Given the description of an element on the screen output the (x, y) to click on. 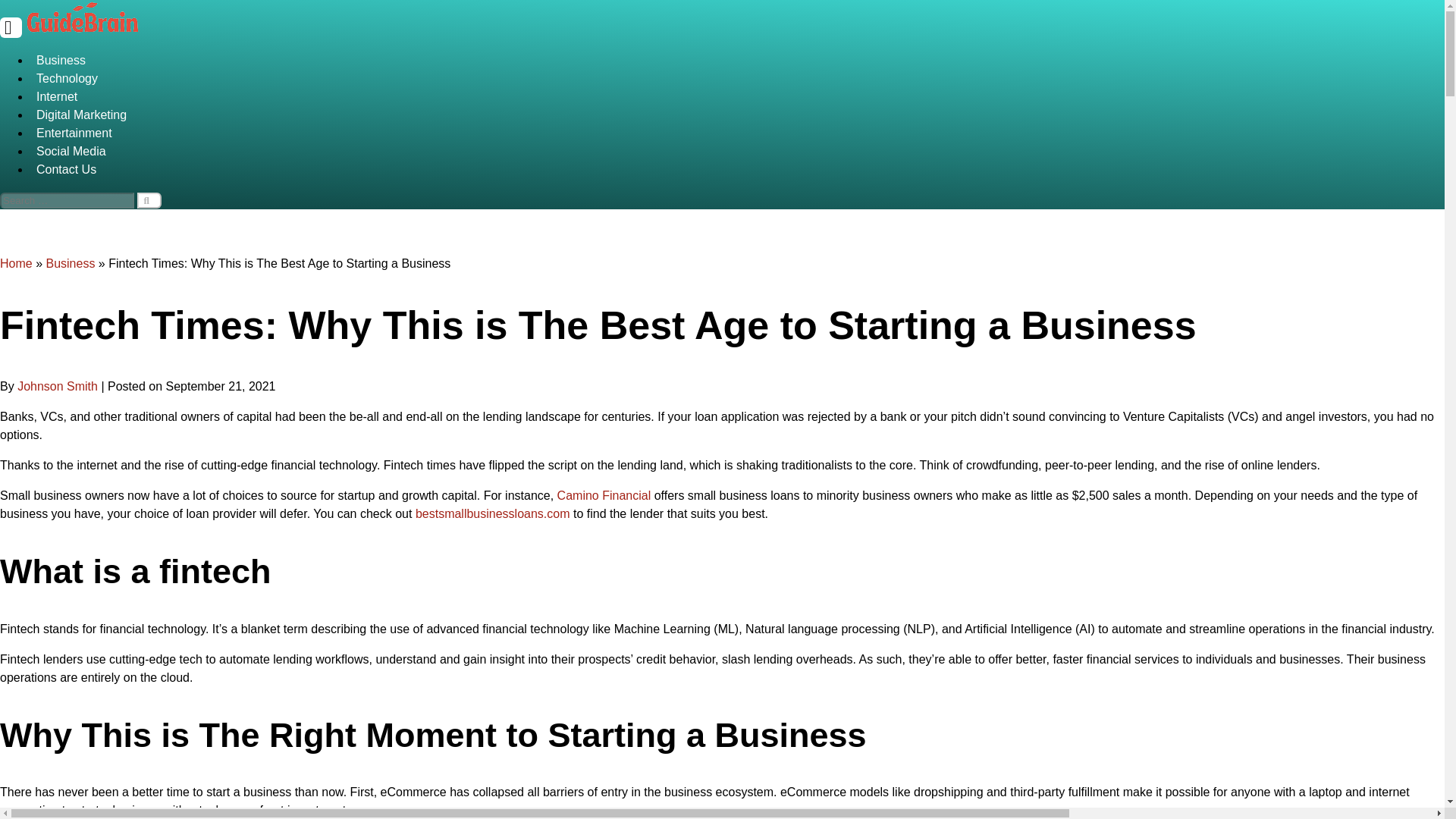
Contact Us (737, 169)
Technology (737, 78)
Business (737, 60)
Search for: (66, 200)
Home (16, 263)
Social Media (737, 151)
Digital Marketing (737, 115)
Business (69, 263)
bestsmallbusinessloans.com (492, 513)
Internet (737, 96)
